Given the description of an element on the screen output the (x, y) to click on. 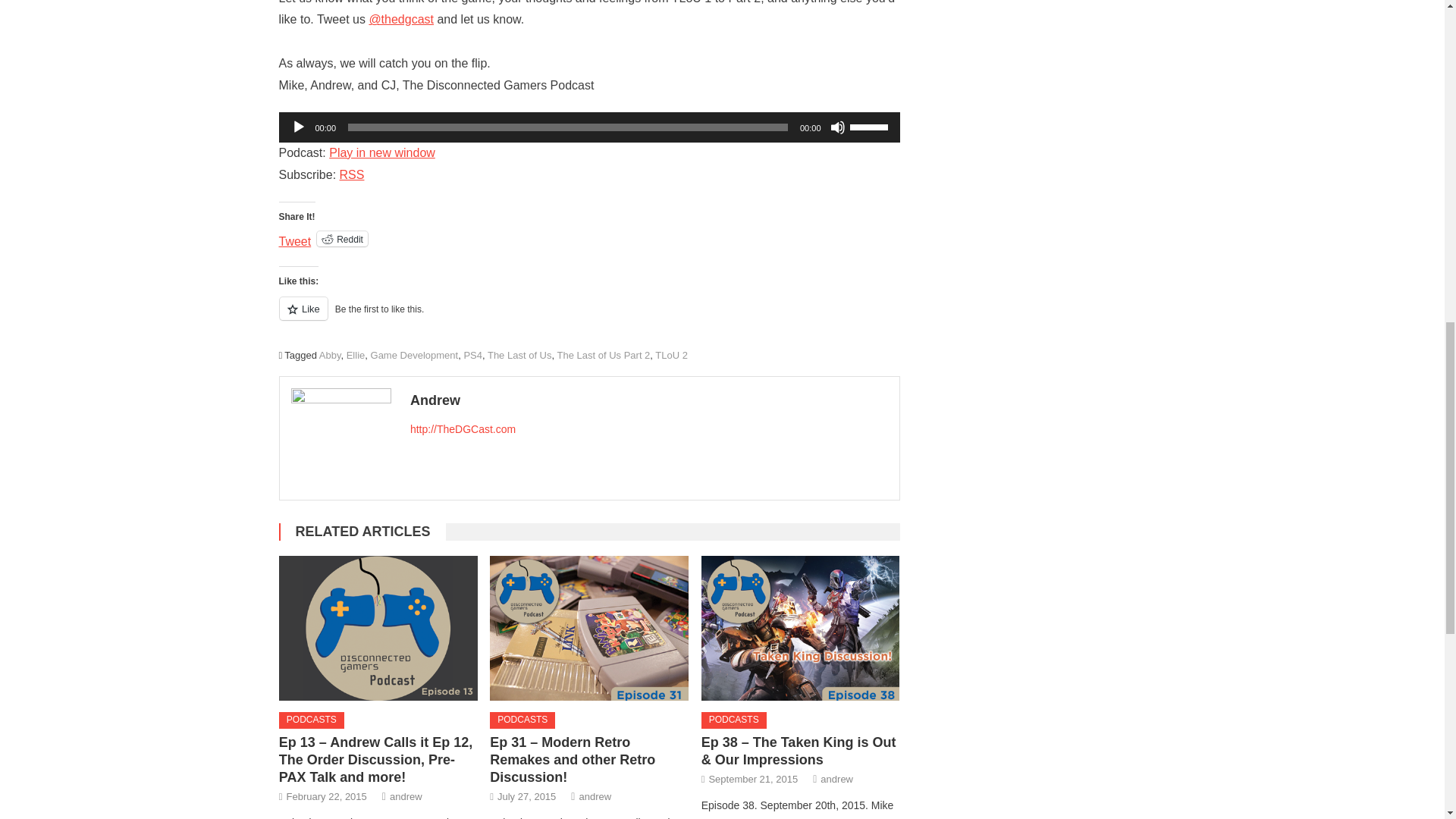
PS4 (472, 355)
RSS (352, 174)
Play in new window (382, 151)
Click to share on Reddit (342, 238)
Reddit (342, 238)
The Last of Us Part 2 (602, 355)
Ellie (355, 355)
Game Development (414, 355)
Play (298, 127)
Subscribe via RSS (352, 174)
February 22, 2015 (326, 796)
Andrew (649, 400)
Abby (329, 355)
Tweet (295, 237)
Mute (836, 127)
